Given the description of an element on the screen output the (x, y) to click on. 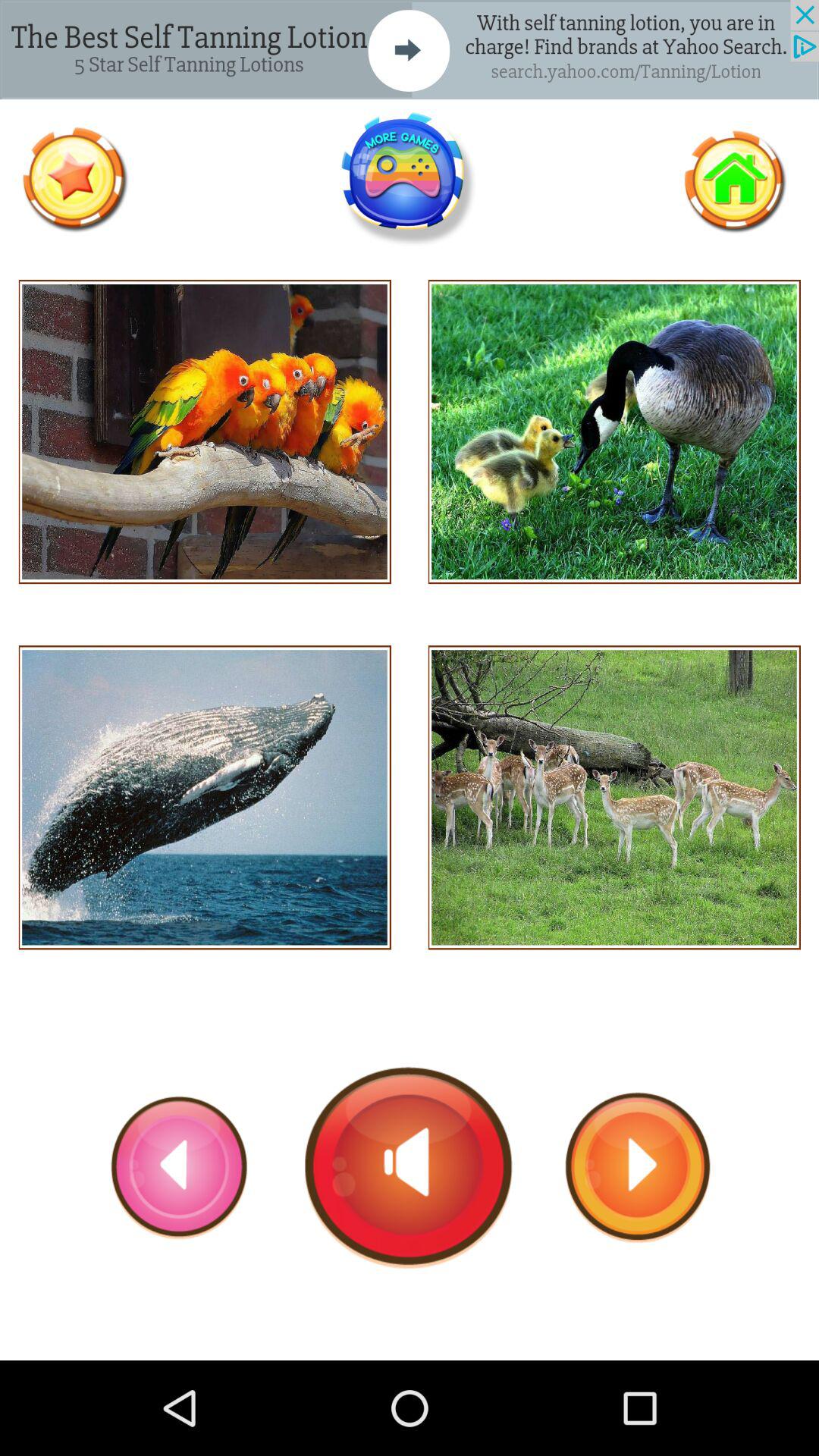
like the page (74, 179)
